Given the description of an element on the screen output the (x, y) to click on. 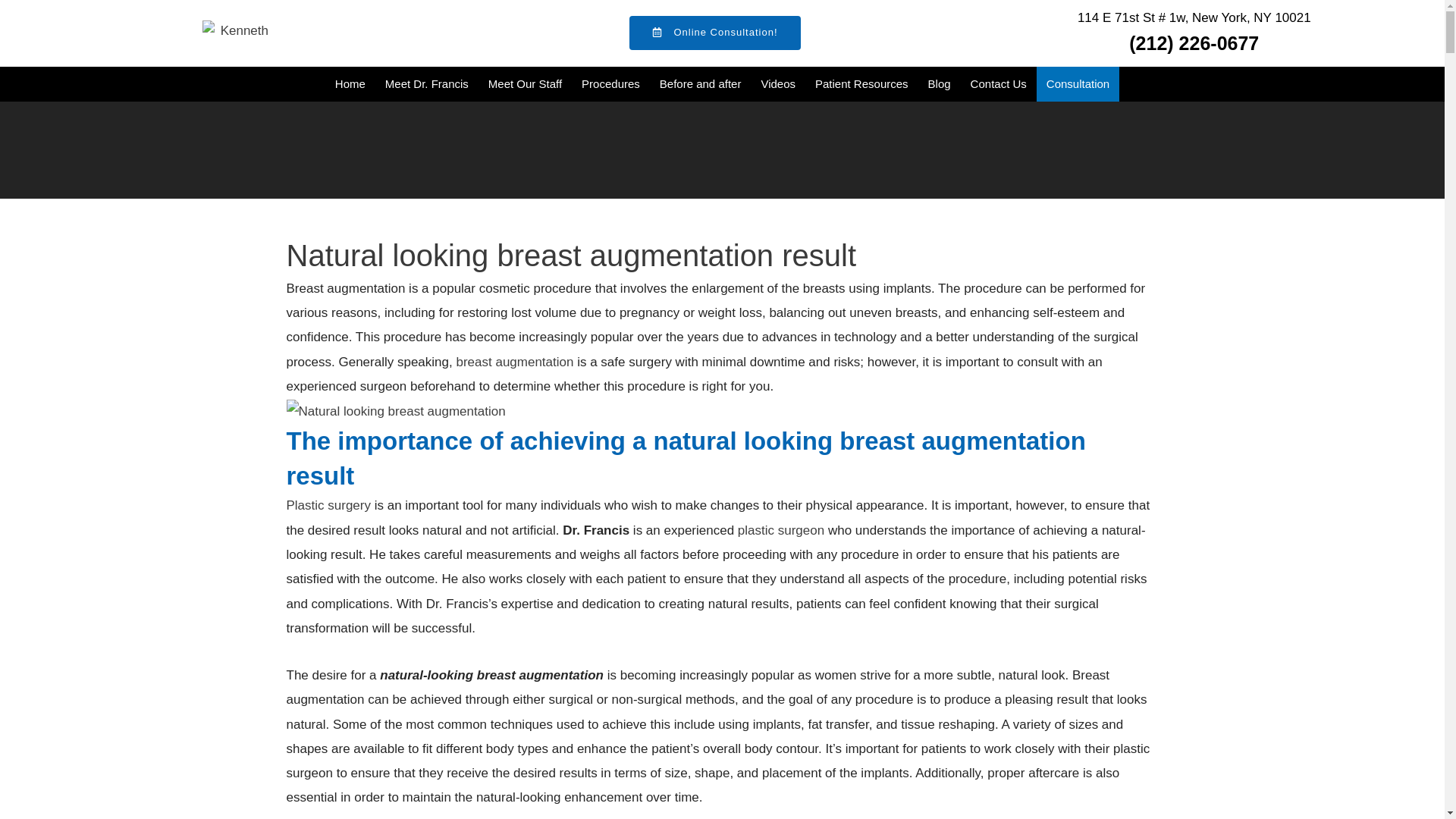
Meet Our Staff (525, 83)
Home (349, 83)
Plastic surgery (328, 504)
Before and after (700, 83)
plastic surgeon (781, 530)
Online Consultation! (713, 32)
Meet Dr. Francis (427, 83)
natural looking breast augmentation (395, 411)
breast augmentation (514, 361)
Procedures (610, 83)
